Given the description of an element on the screen output the (x, y) to click on. 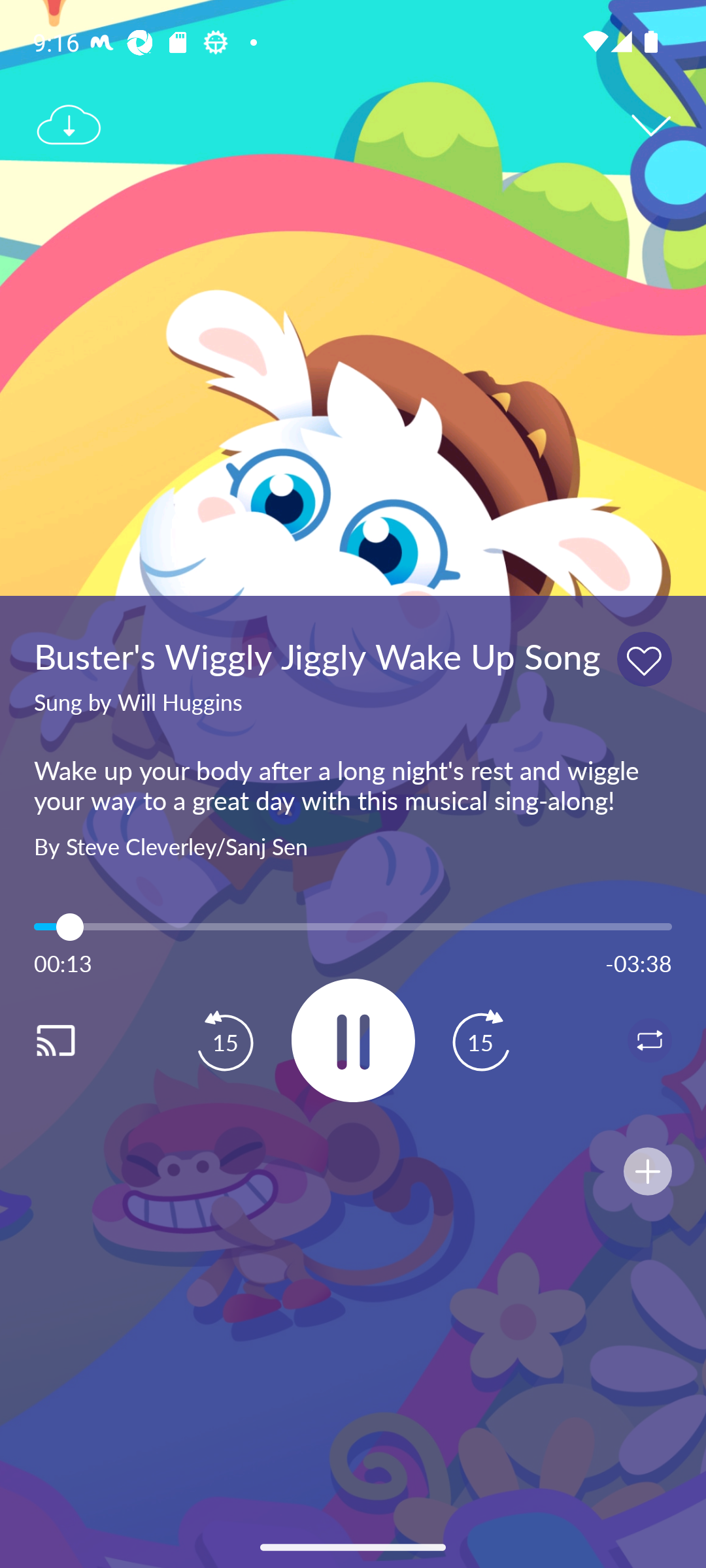
13.0 (352, 926)
Cast. Disconnected (76, 1040)
